Given the description of an element on the screen output the (x, y) to click on. 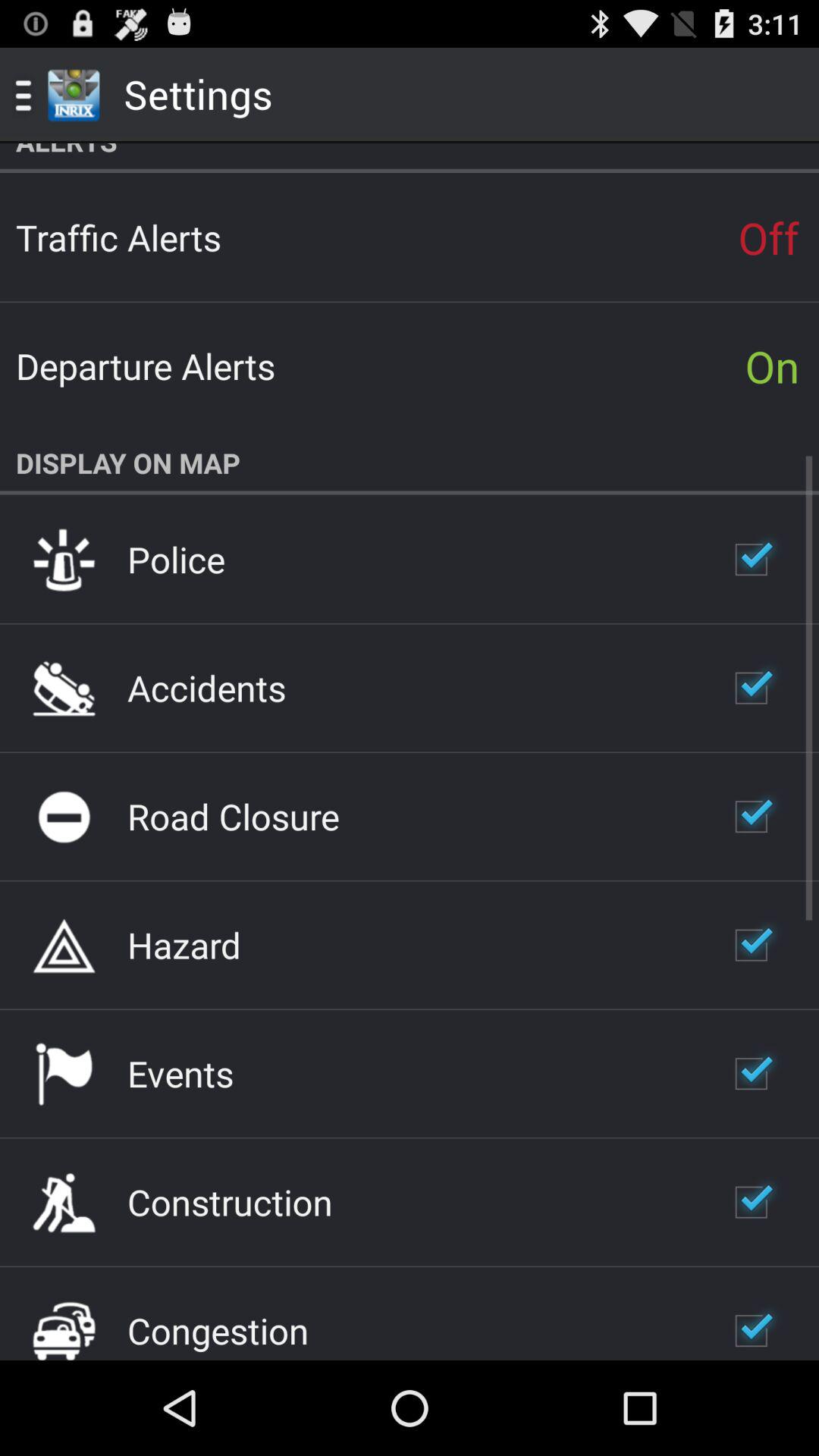
tap the icon above the road closure icon (206, 687)
